Given the description of an element on the screen output the (x, y) to click on. 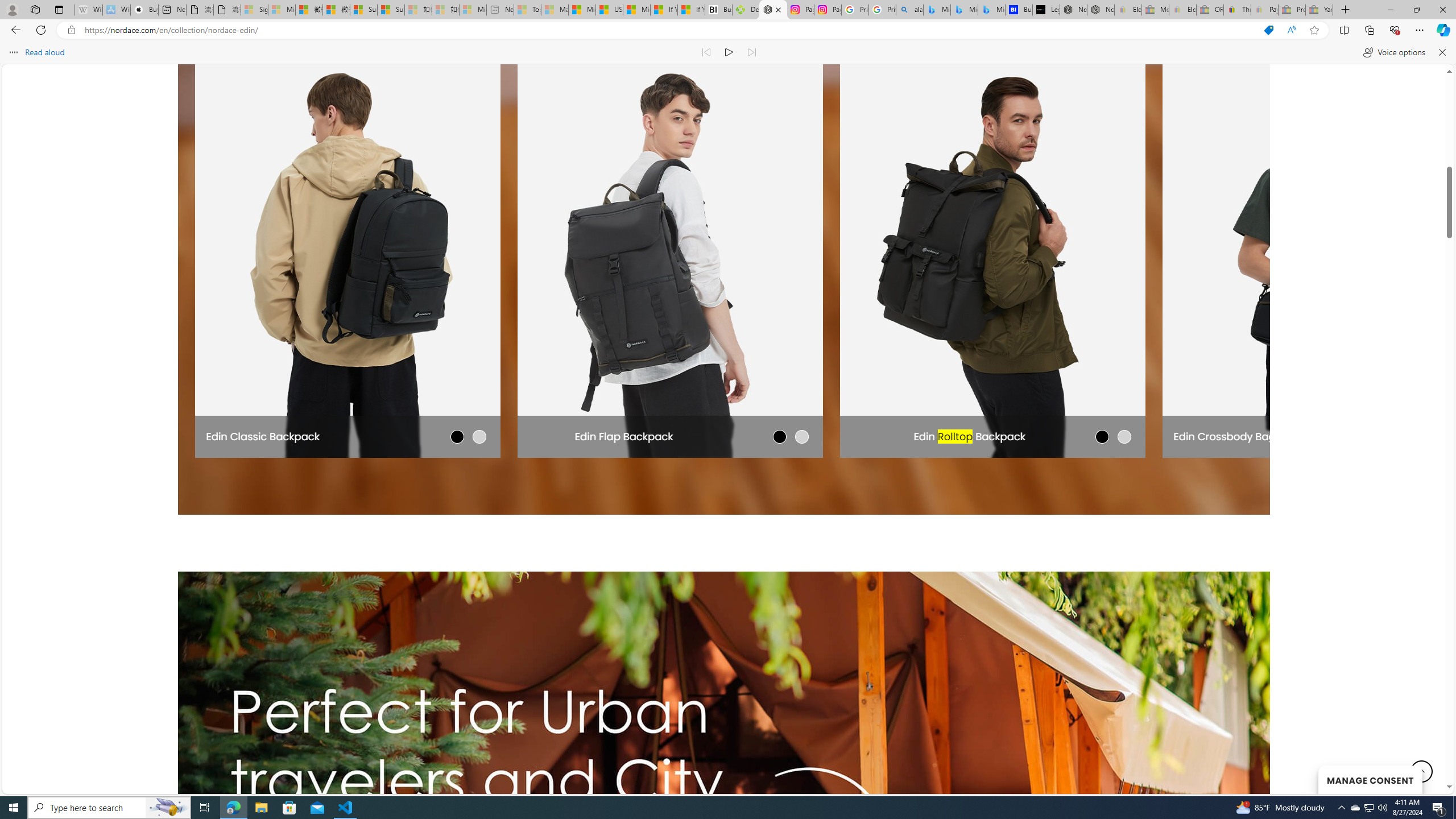
Microsoft Services Agreement - Sleeping (281, 9)
Close (1442, 9)
Personal Profile (12, 9)
Microsoft Bing Travel - Shangri-La Hotel Bangkok (991, 9)
Restore (1416, 9)
Press Room - eBay Inc. - Sleeping (1292, 9)
New tab (171, 9)
Sign in to your Microsoft account - Sleeping (254, 9)
Close tab (778, 9)
Back (13, 29)
